Given the description of an element on the screen output the (x, y) to click on. 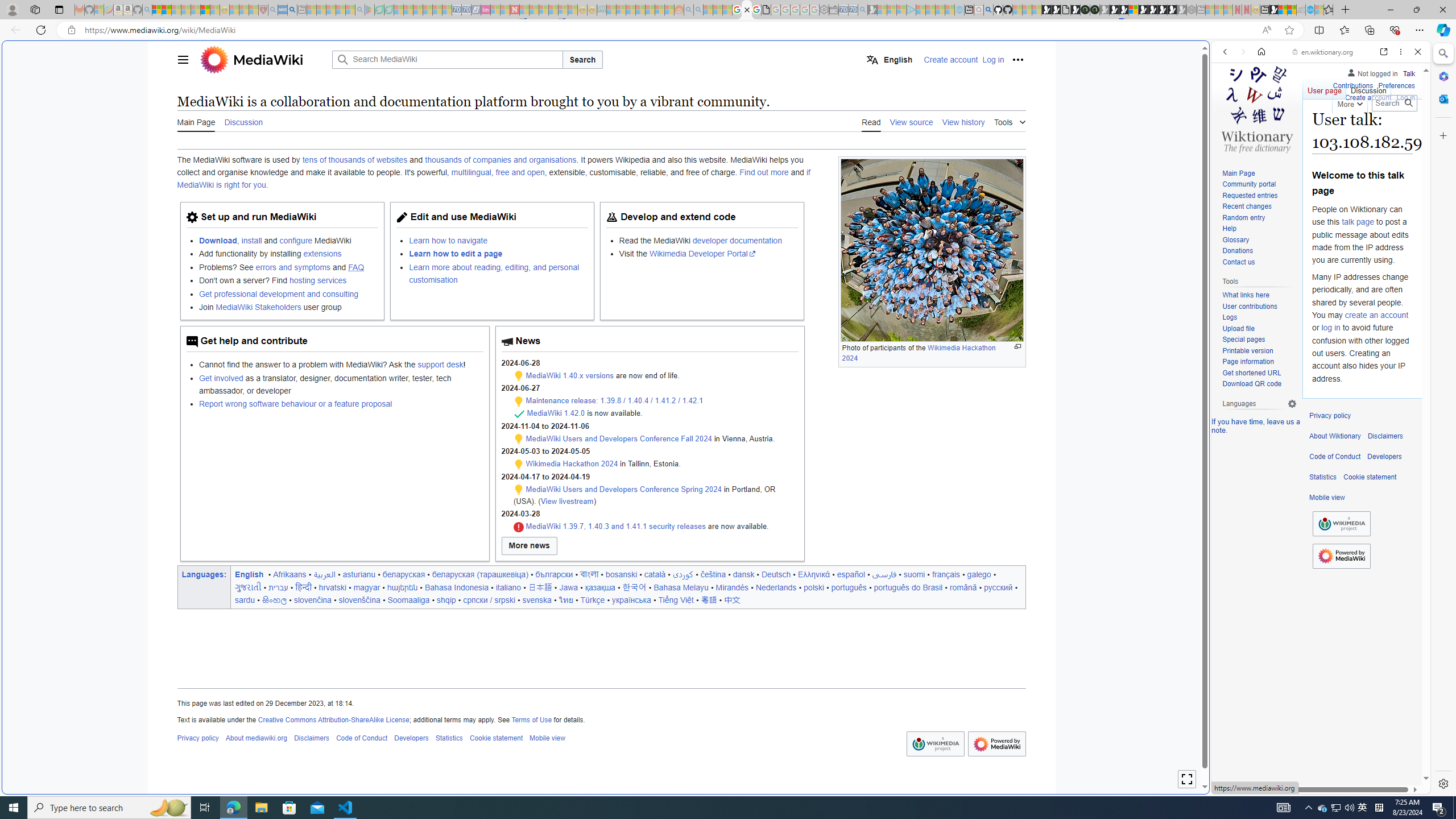
Download QR code (1251, 384)
User page (1324, 87)
install (251, 239)
Download (217, 239)
Tabs you've opened (885, 151)
